Given the description of an element on the screen output the (x, y) to click on. 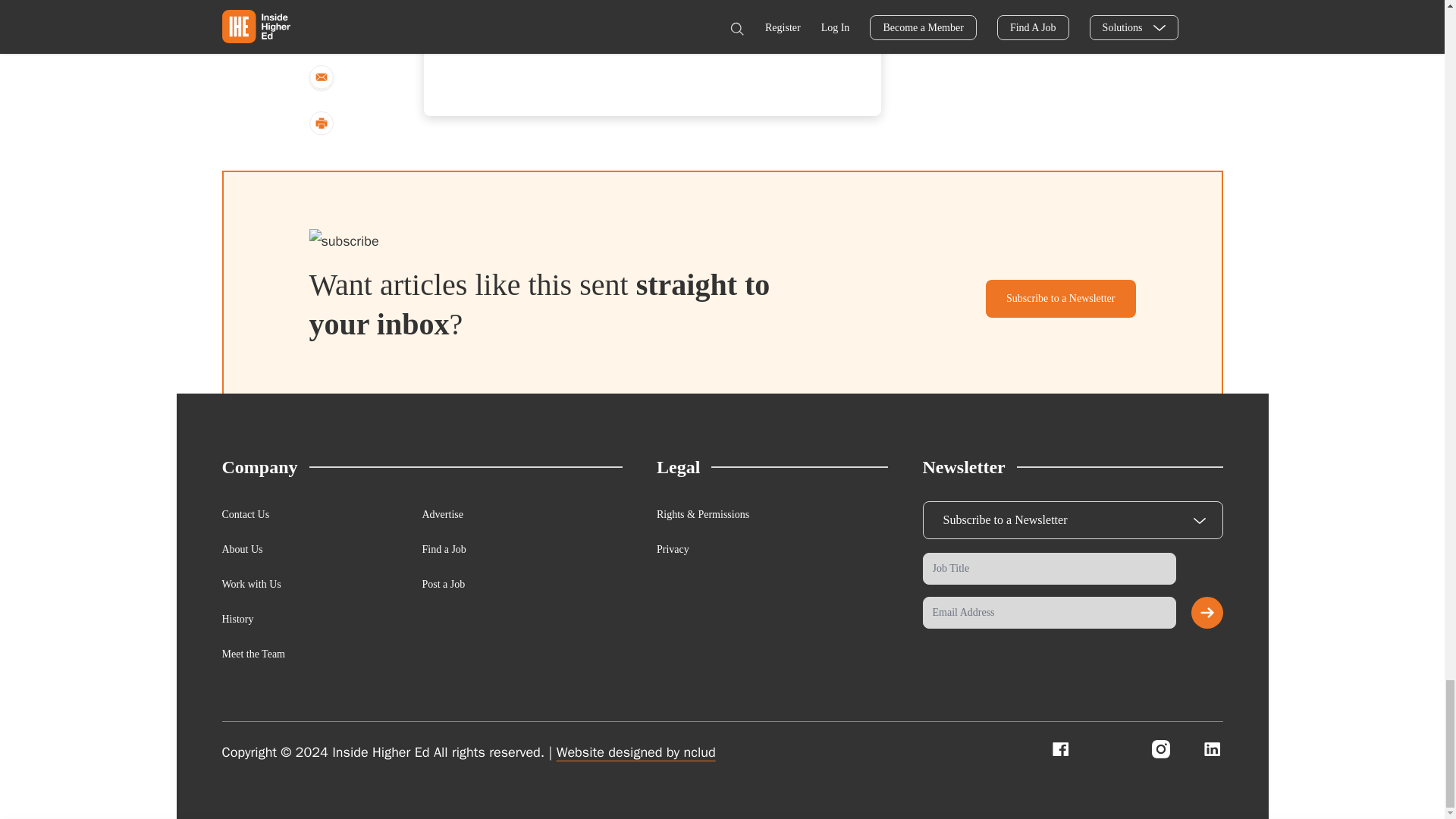
Submit (1207, 612)
